Given the description of an element on the screen output the (x, y) to click on. 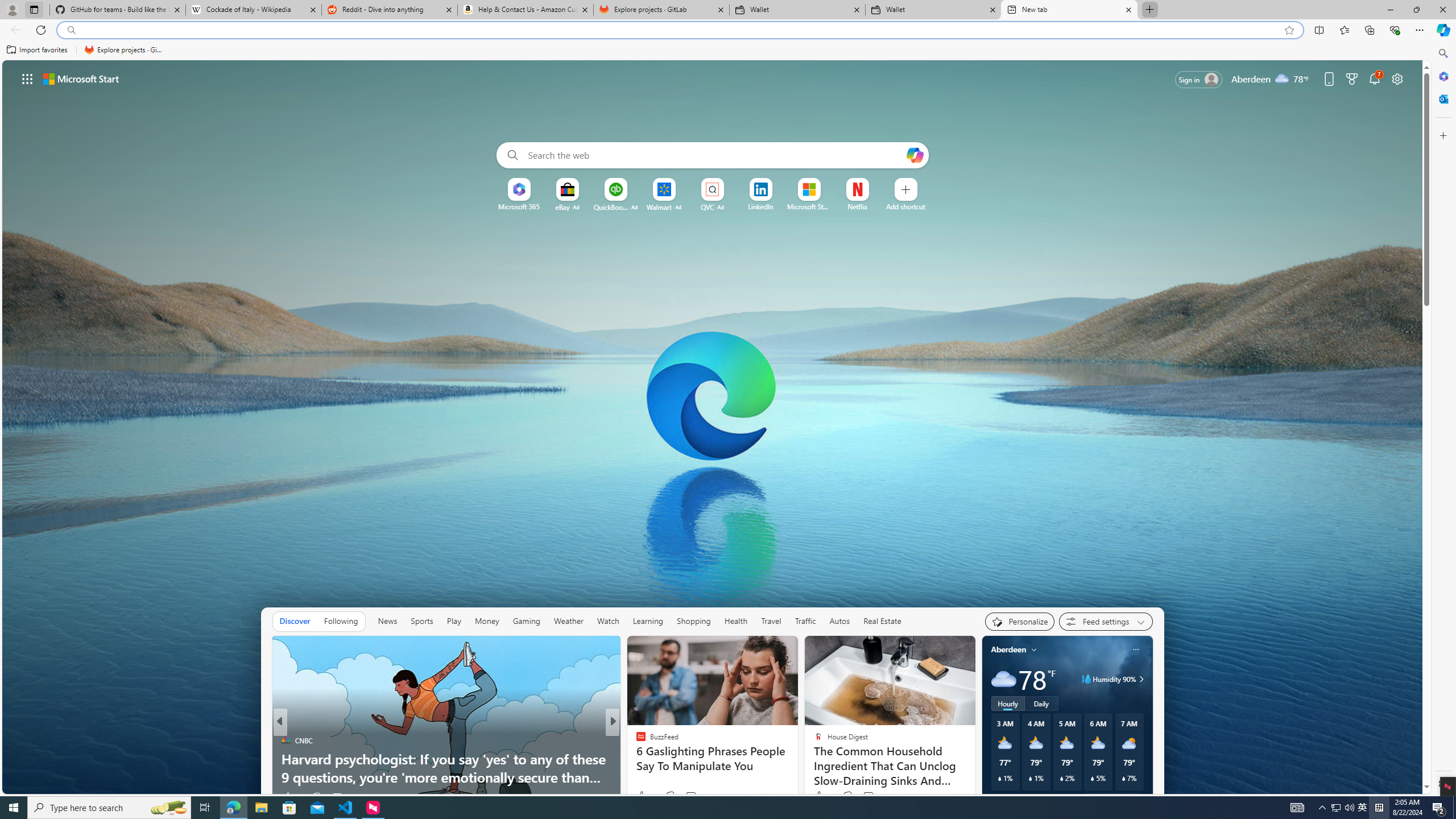
Click to sign into Microsoft Edge (1198, 79)
Martha Stewart Living (635, 758)
Gaming (526, 621)
View comments 66 Comment (693, 796)
Import favorites (36, 49)
Watch (607, 621)
AutomationID: backgroundImagePicture (712, 426)
View comments 15 Comment (687, 797)
Autos (839, 621)
View comments 139 Comment (690, 795)
